Given the description of an element on the screen output the (x, y) to click on. 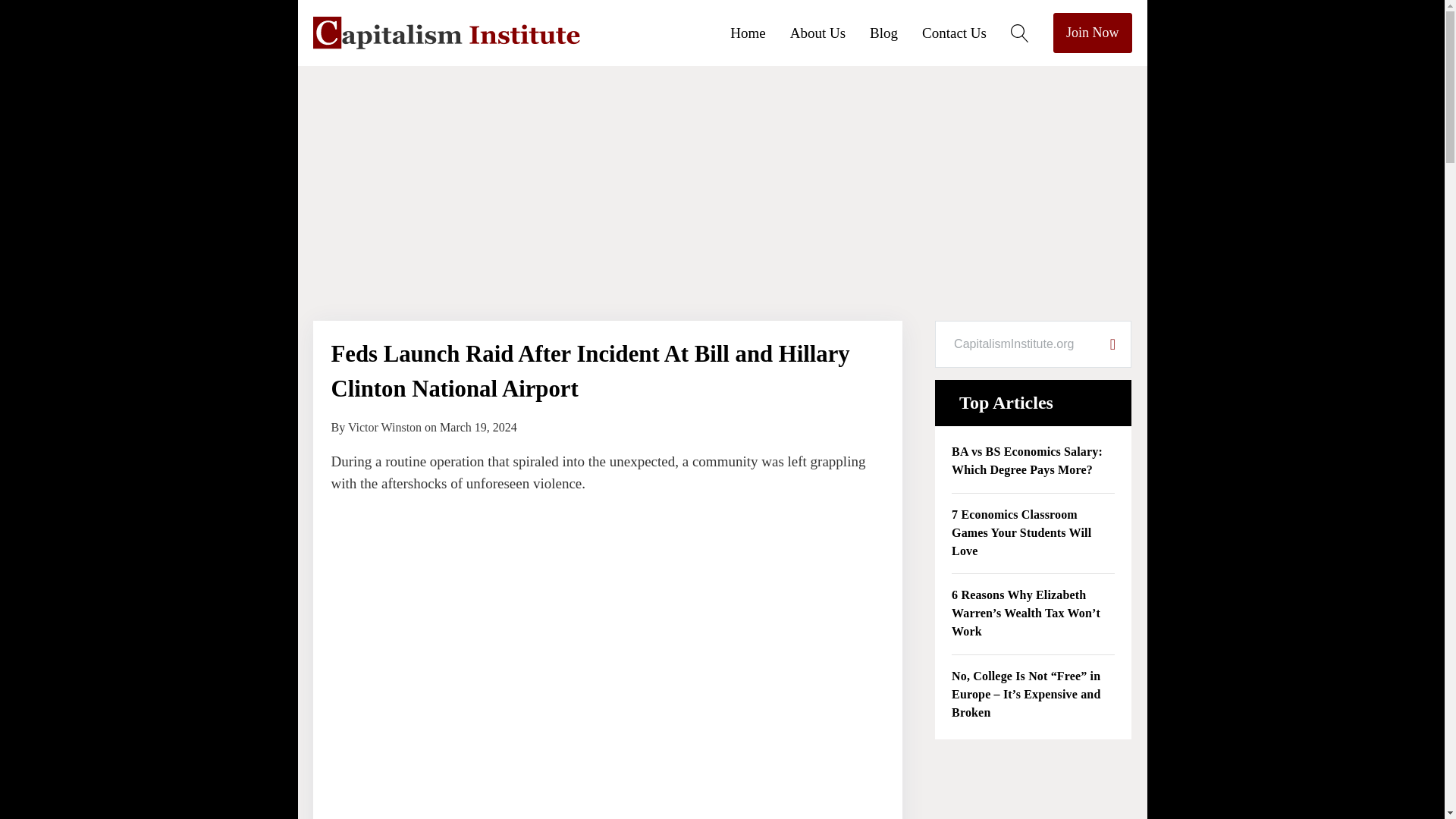
About Us (829, 32)
7 Economics Classroom Games Your Students Will Love (1033, 533)
Join Now (1092, 33)
Blog (895, 32)
Contact Us (965, 32)
Search for: (1015, 343)
Victor Winston (384, 427)
BA vs BS Economics Salary: Which Degree Pays More? (1033, 461)
Home (759, 32)
